Given the description of an element on the screen output the (x, y) to click on. 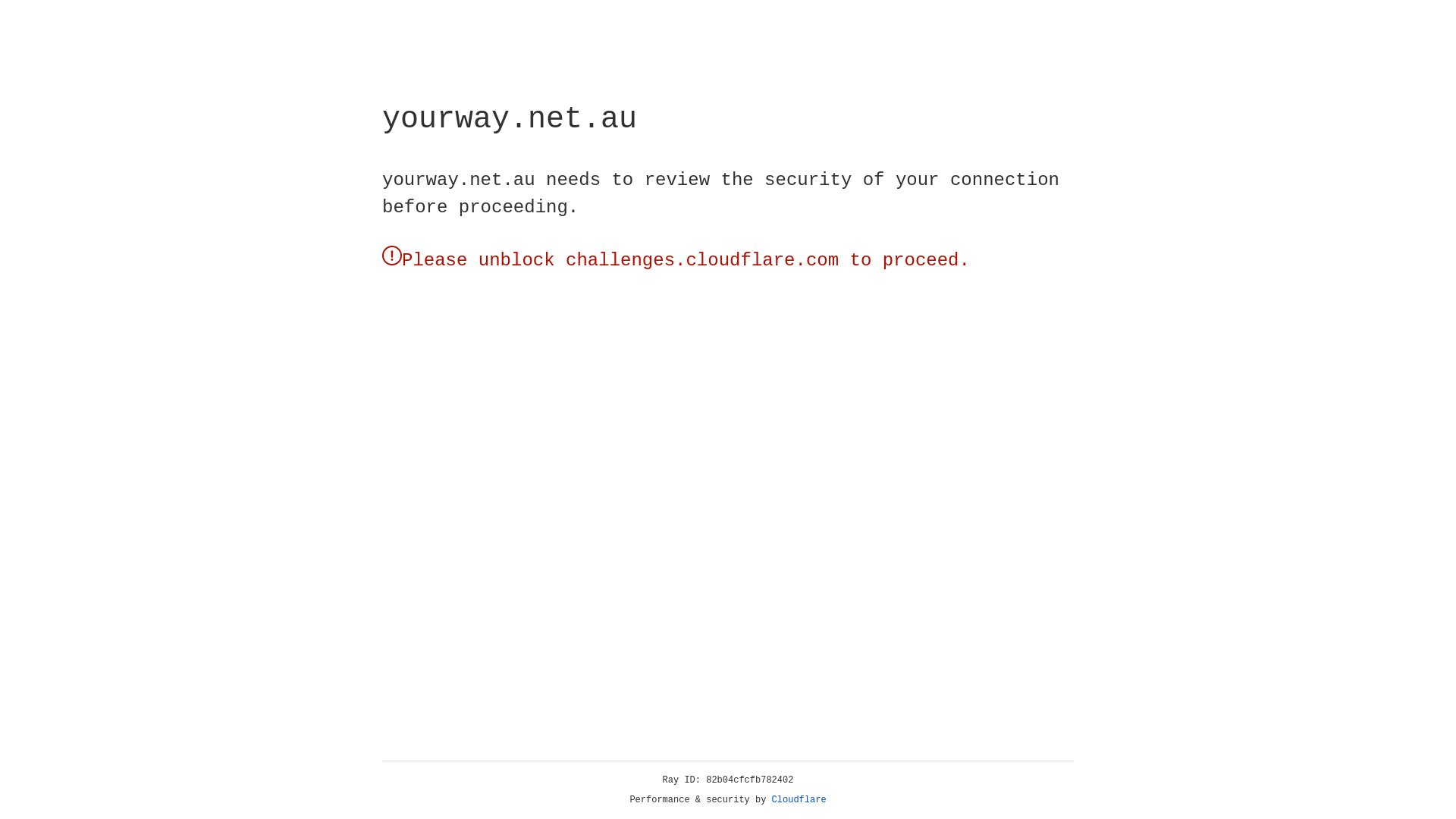
Cloudflare Element type: text (798, 799)
